Given the description of an element on the screen output the (x, y) to click on. 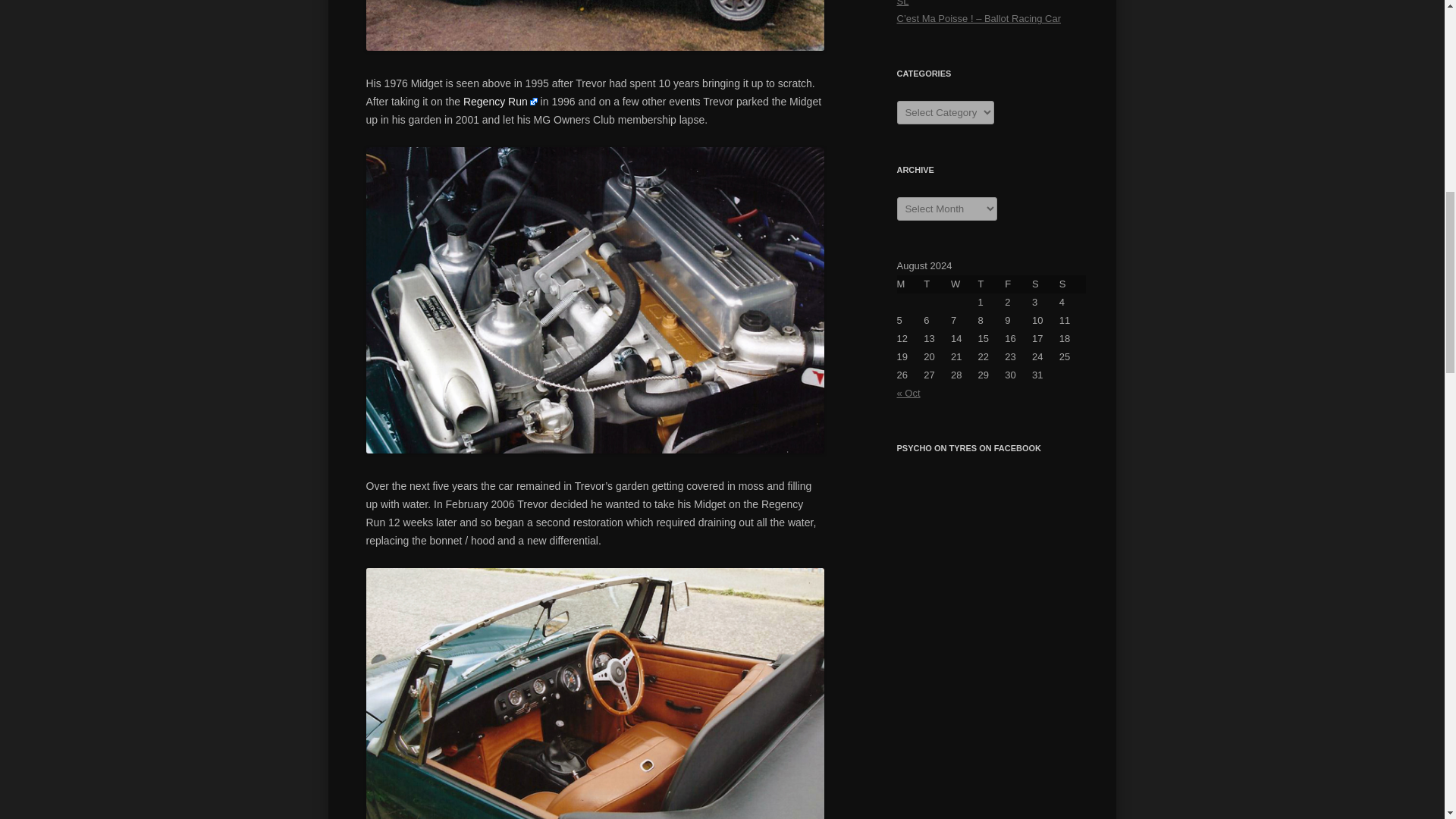
Saturday (1045, 284)
Wednesday (964, 284)
Monday (909, 284)
Thursday (992, 284)
Regency Run (500, 101)
Tuesday (936, 284)
Friday (1018, 284)
